Given the description of an element on the screen output the (x, y) to click on. 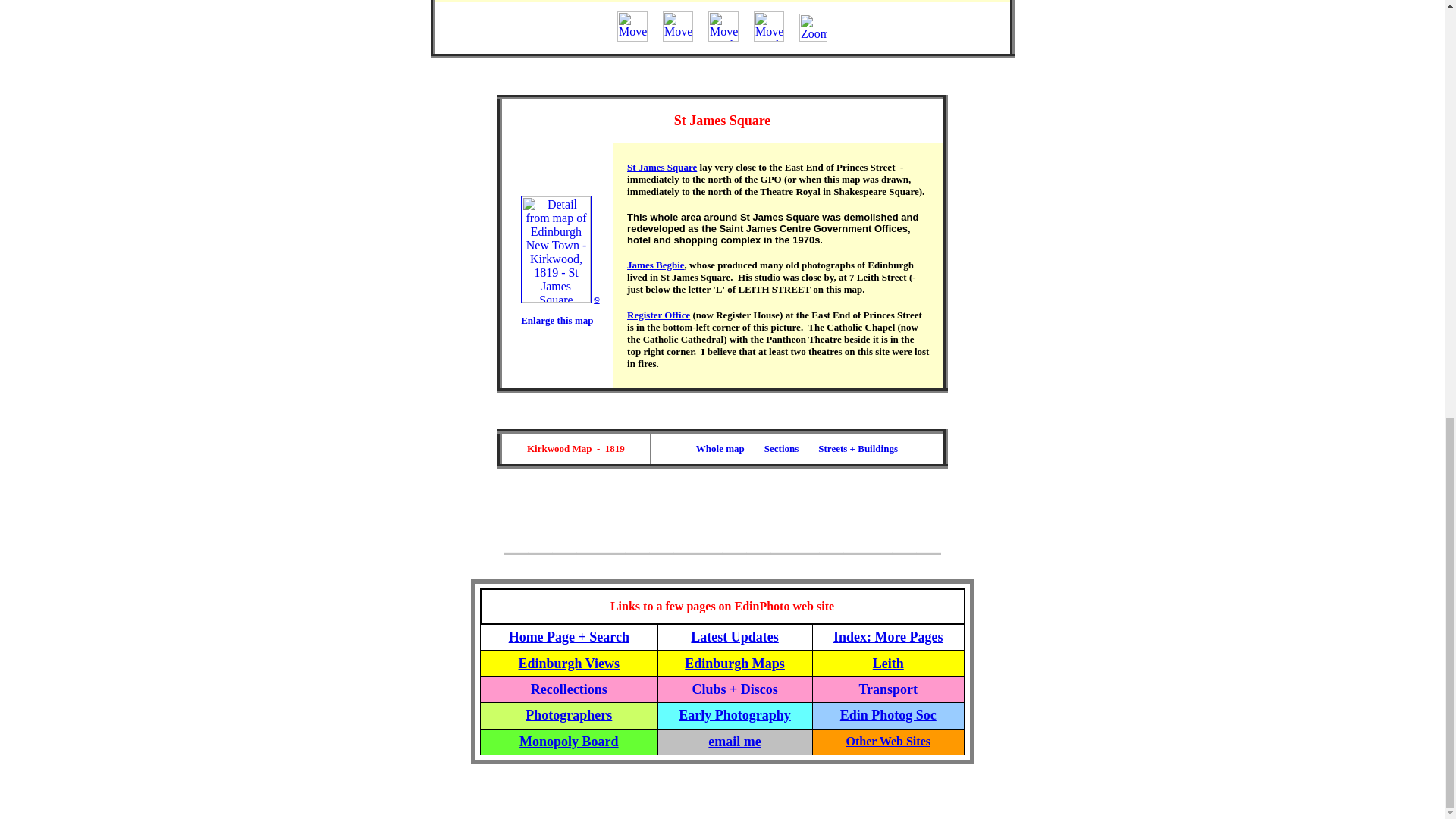
Register Office (658, 315)
Whole map (719, 447)
James Begbie (655, 265)
Enlarge this map (556, 319)
St James Square (662, 166)
